Given the description of an element on the screen output the (x, y) to click on. 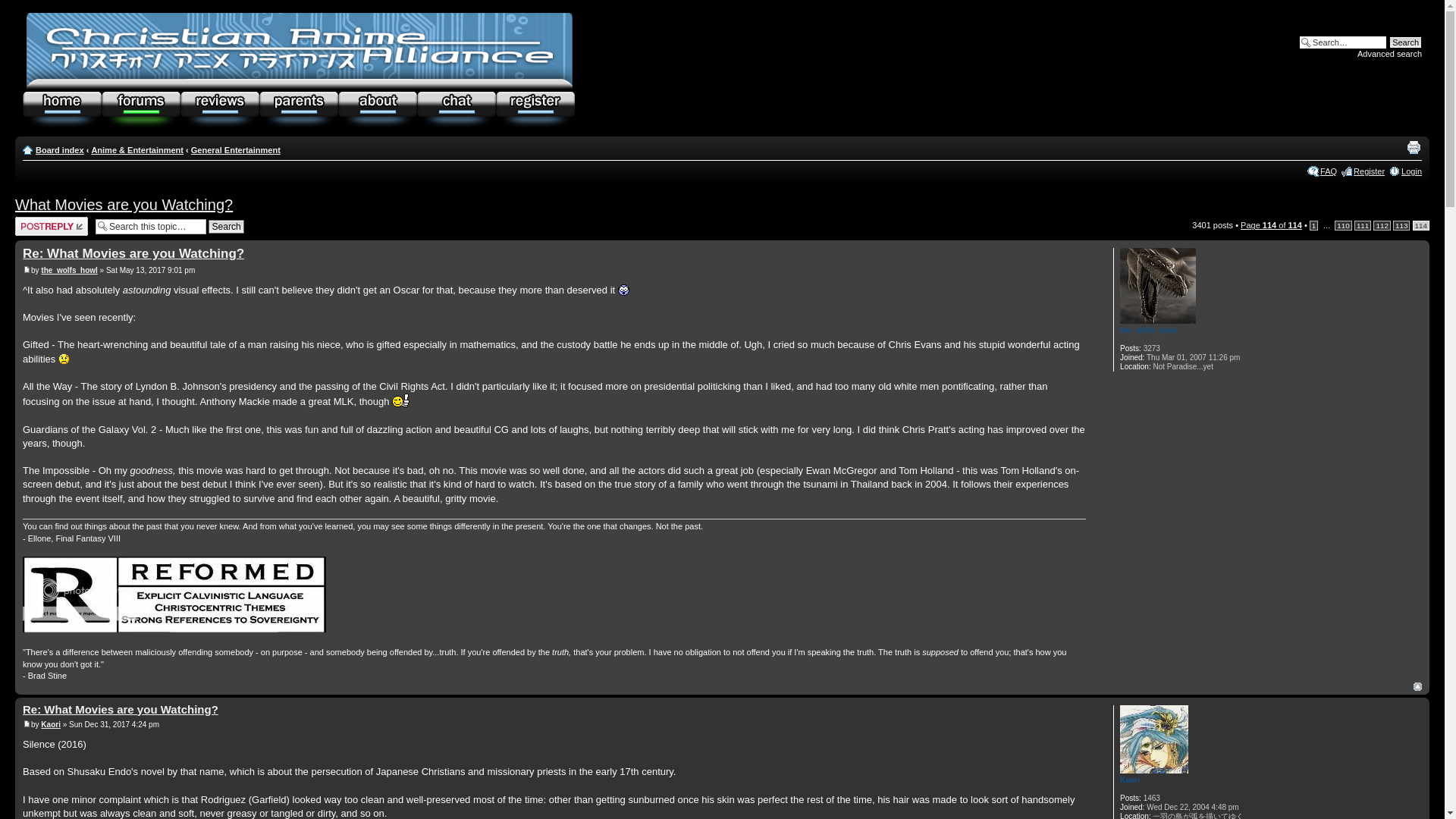
Frequently Asked Questions (1328, 171)
110 (1343, 225)
113 (1401, 225)
Search (1405, 42)
Post a reply (50, 226)
Post (26, 724)
112 (1381, 225)
Register (1369, 171)
Board index (300, 52)
Cry (63, 358)
Re: What Movies are you Watching? (120, 708)
FAQ (1328, 171)
Re: What Movies are you Watching? (133, 253)
Board index (59, 149)
Page 114 of 114 (1270, 225)
